Given the description of an element on the screen output the (x, y) to click on. 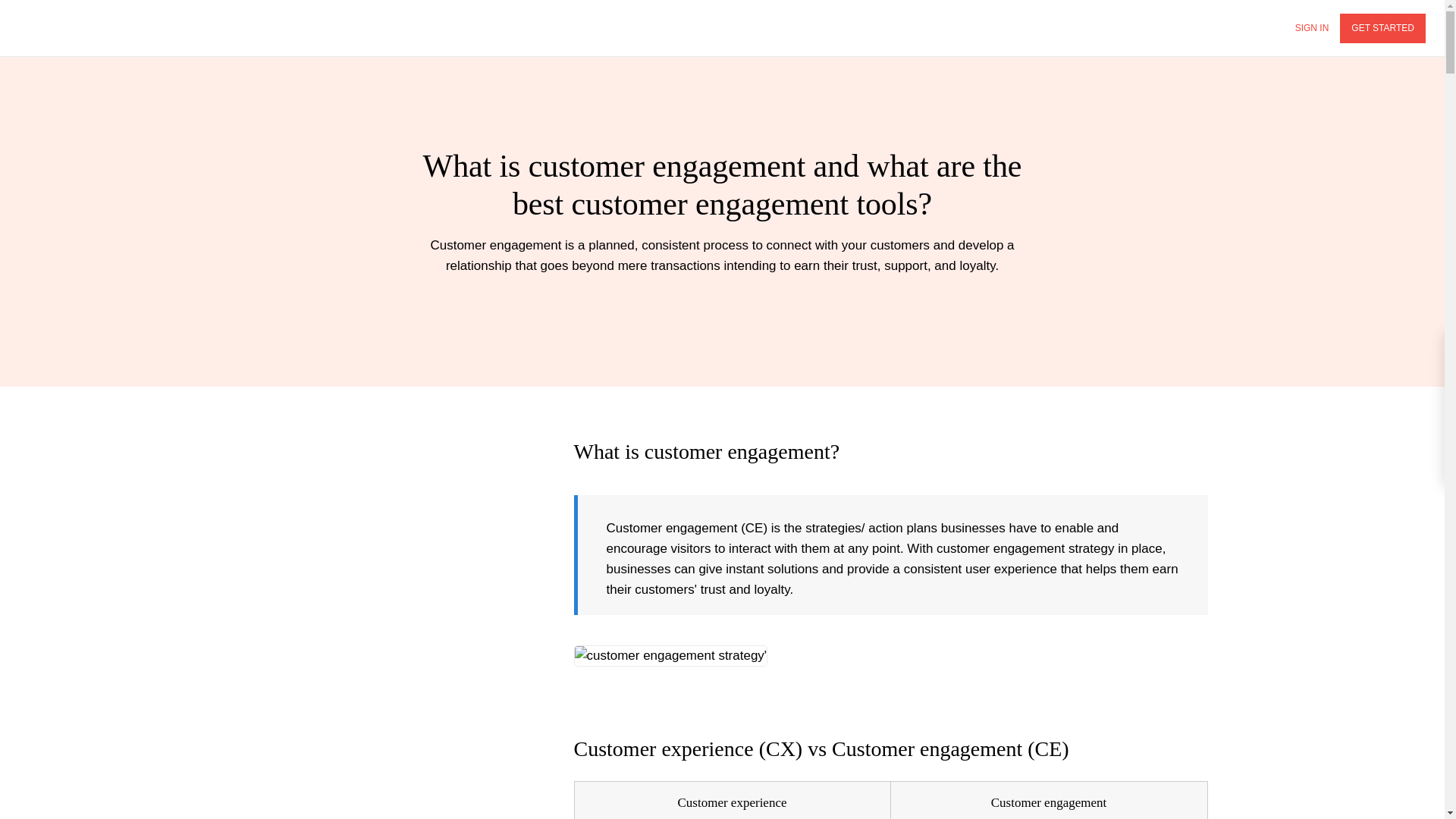
SIGN IN (1312, 28)
GET STARTED (1382, 28)
Zoho.com (60, 27)
